Given the description of an element on the screen output the (x, y) to click on. 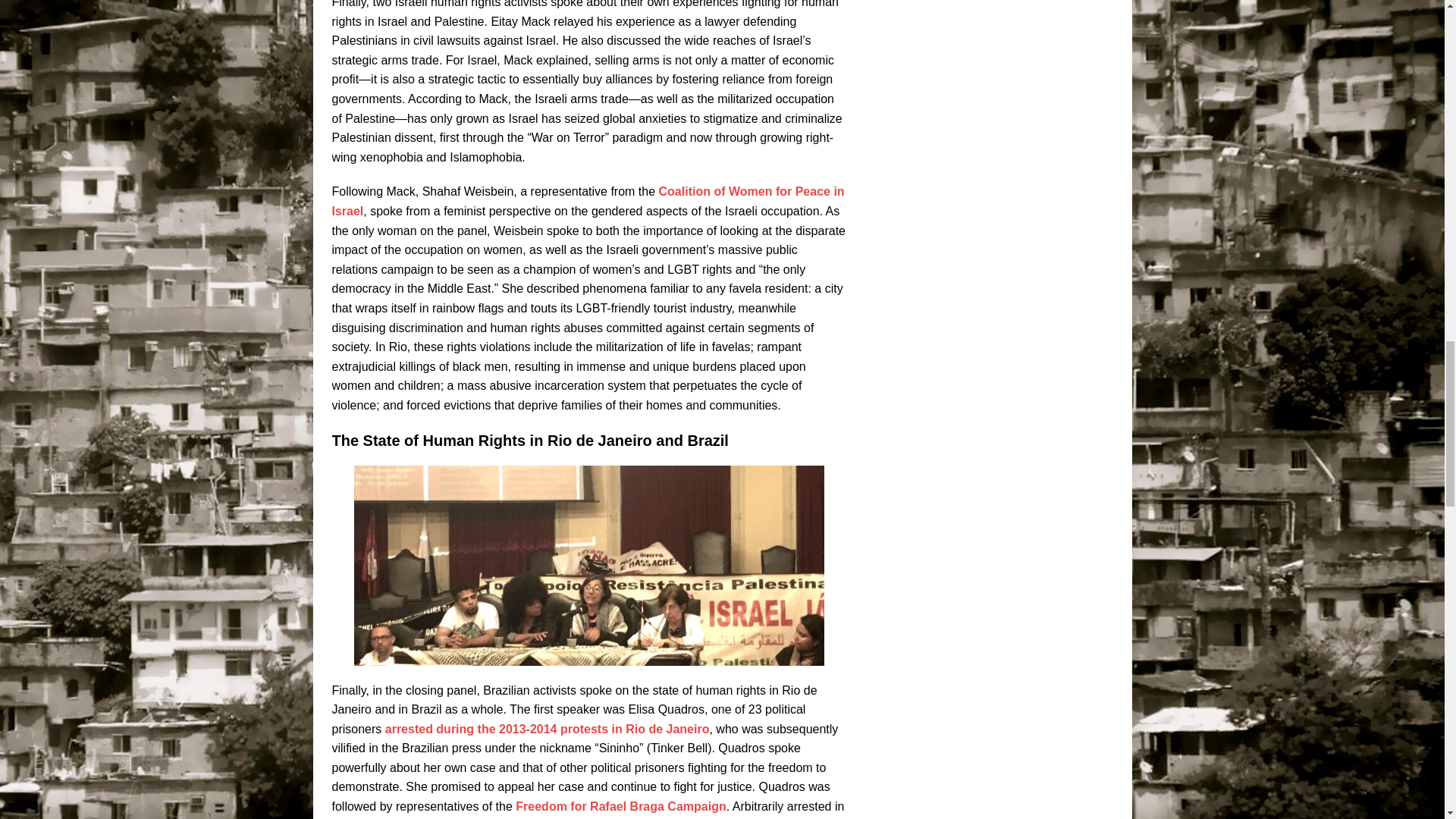
Closing Panel at Julho Negro (588, 565)
